Given the description of an element on the screen output the (x, y) to click on. 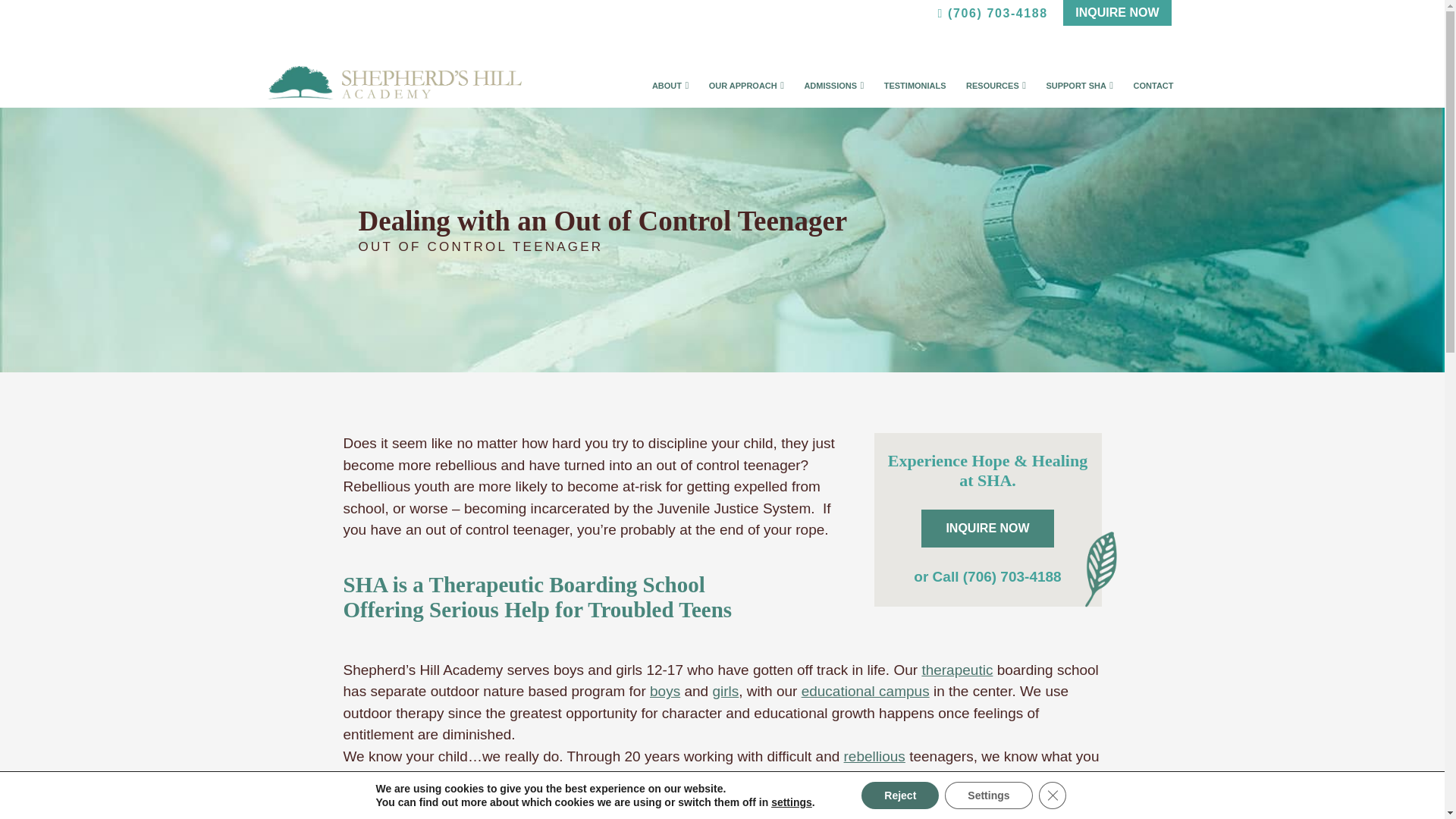
CONTACT (1153, 91)
TESTIMONIALS (914, 91)
ADMISSIONS (830, 91)
ABOUT (666, 91)
INQUIRE NOW (1116, 12)
RESOURCES (992, 91)
INQUIRE NOW (1116, 11)
OUR APPROACH (743, 91)
SUPPORT SHA (1075, 91)
